Given the description of an element on the screen output the (x, y) to click on. 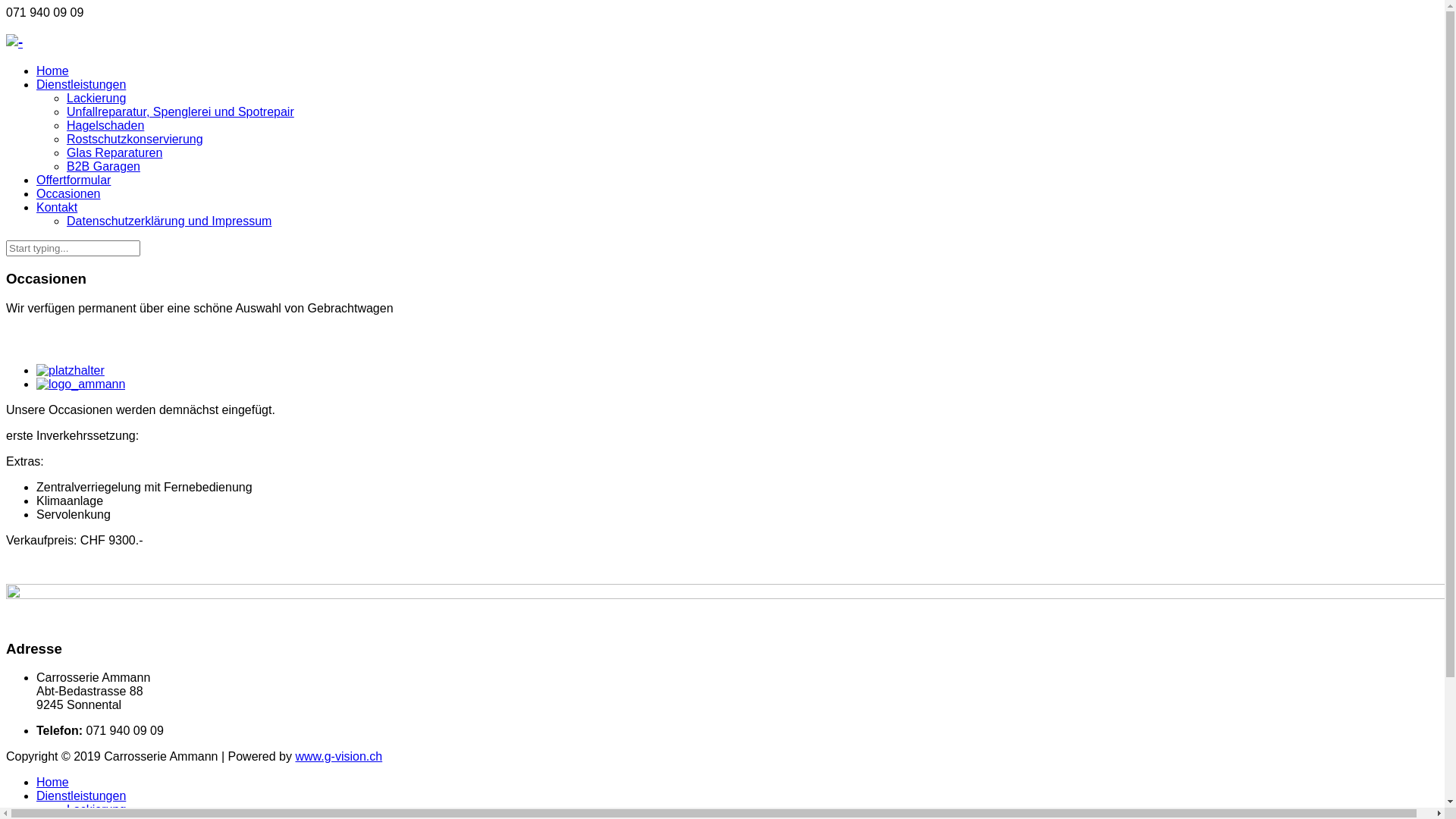
Lackierung Element type: text (752, 809)
B2B Garagen Element type: text (502, 166)
Home Element type: text (737, 782)
Occasionen Element type: text (487, 193)
Unfallreparatur, Spenglerei und Spotrepair Element type: text (502, 112)
Top Element type: text (1408, 771)
Hagelschaden Element type: text (502, 125)
Lackierung Element type: text (502, 98)
Dienstleistungen Element type: text (737, 796)
Glas Reparaturen Element type: text (502, 153)
Dienstleistungen Element type: text (487, 84)
platzhalter Element type: hover (70, 370)
www.g-vision.ch Element type: text (338, 755)
Kontakt Element type: text (487, 207)
Rostschutzkonservierung Element type: text (502, 139)
logo_ammann Element type: hover (80, 384)
Offertformular Element type: text (487, 180)
Home Element type: text (487, 71)
